Given the description of an element on the screen output the (x, y) to click on. 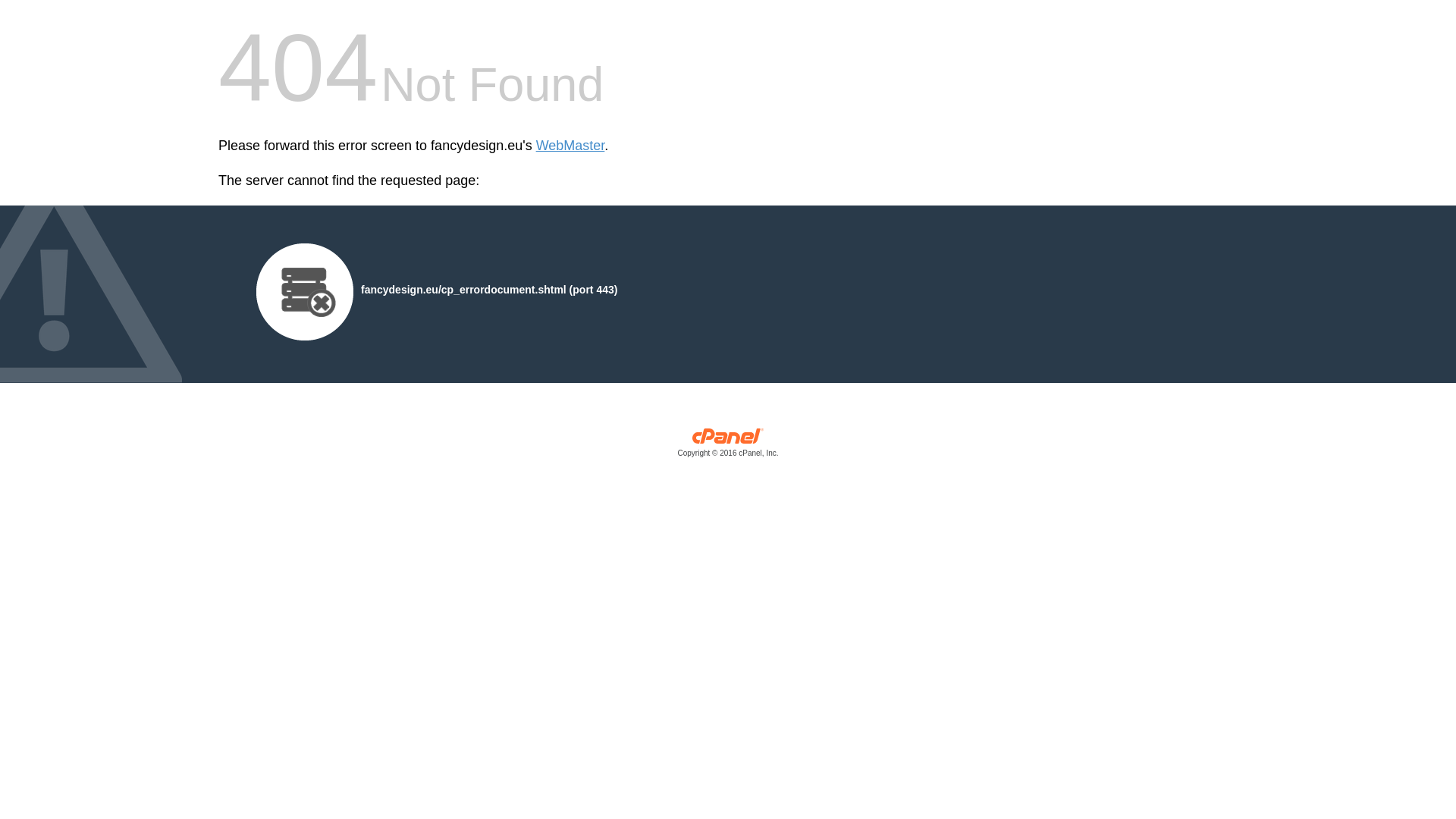
WebMaster (570, 145)
cPanel, Inc. (727, 446)
